Given the description of an element on the screen output the (x, y) to click on. 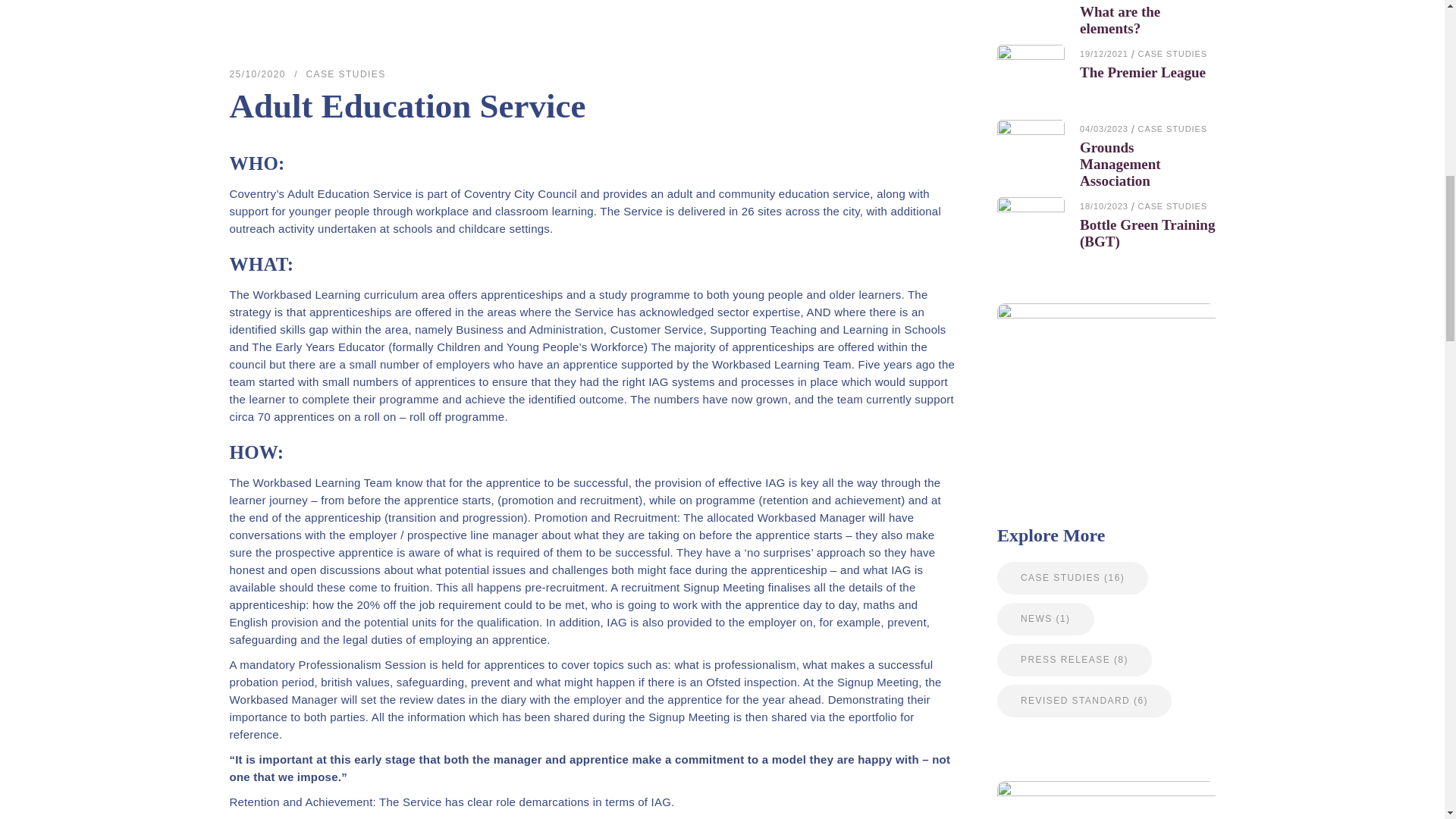
The Premier League (1030, 78)
What are the elements? (1030, 8)
What are the elements? (1120, 20)
